Given the description of an element on the screen output the (x, y) to click on. 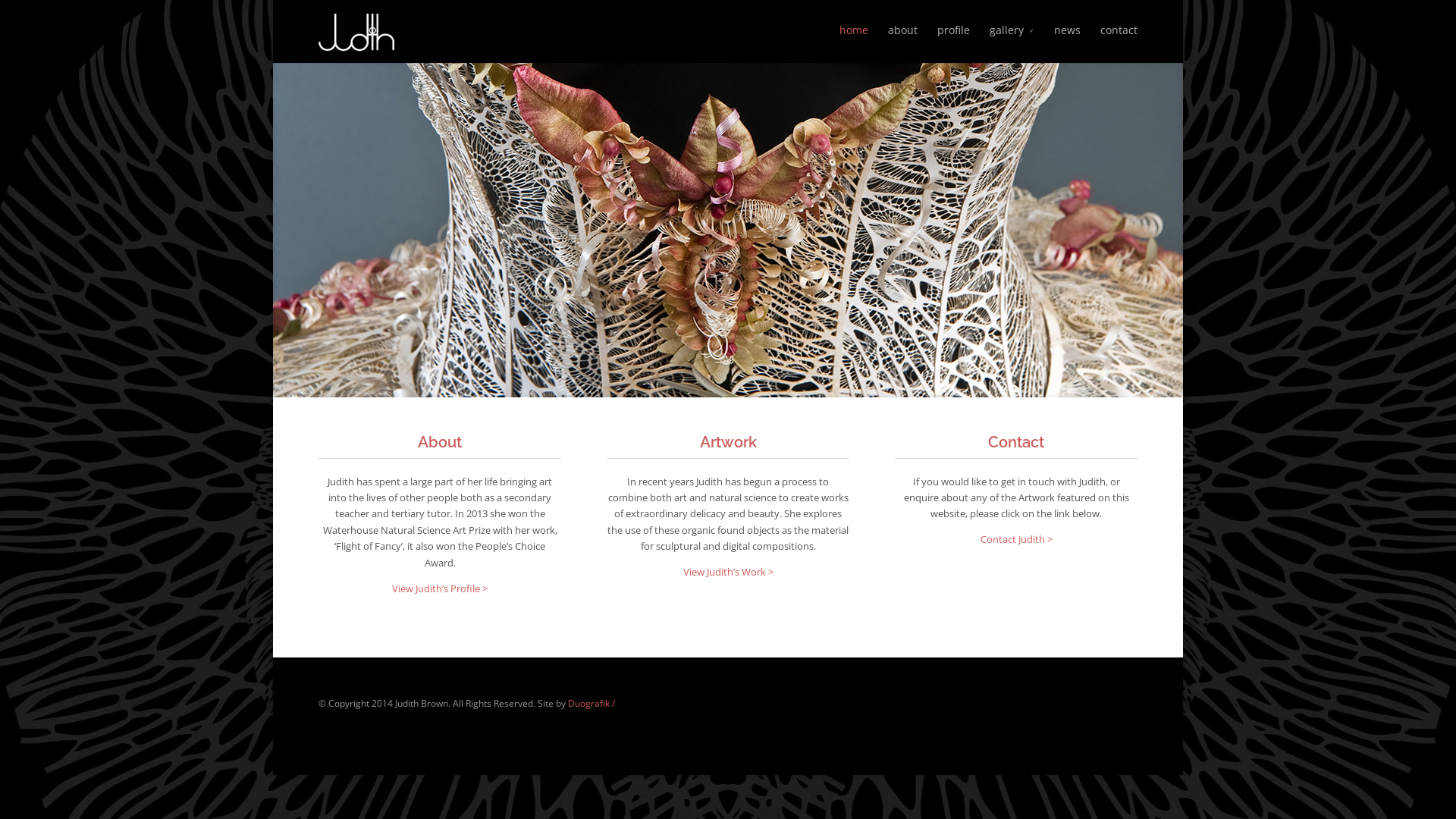
home Element type: text (853, 40)
Duografik / Element type: text (591, 702)
profile Element type: text (953, 40)
Contact Judith > Element type: text (1015, 539)
about Element type: text (902, 40)
contact Element type: text (1118, 40)
gallery Element type: text (1011, 40)
news Element type: text (1067, 40)
